Given the description of an element on the screen output the (x, y) to click on. 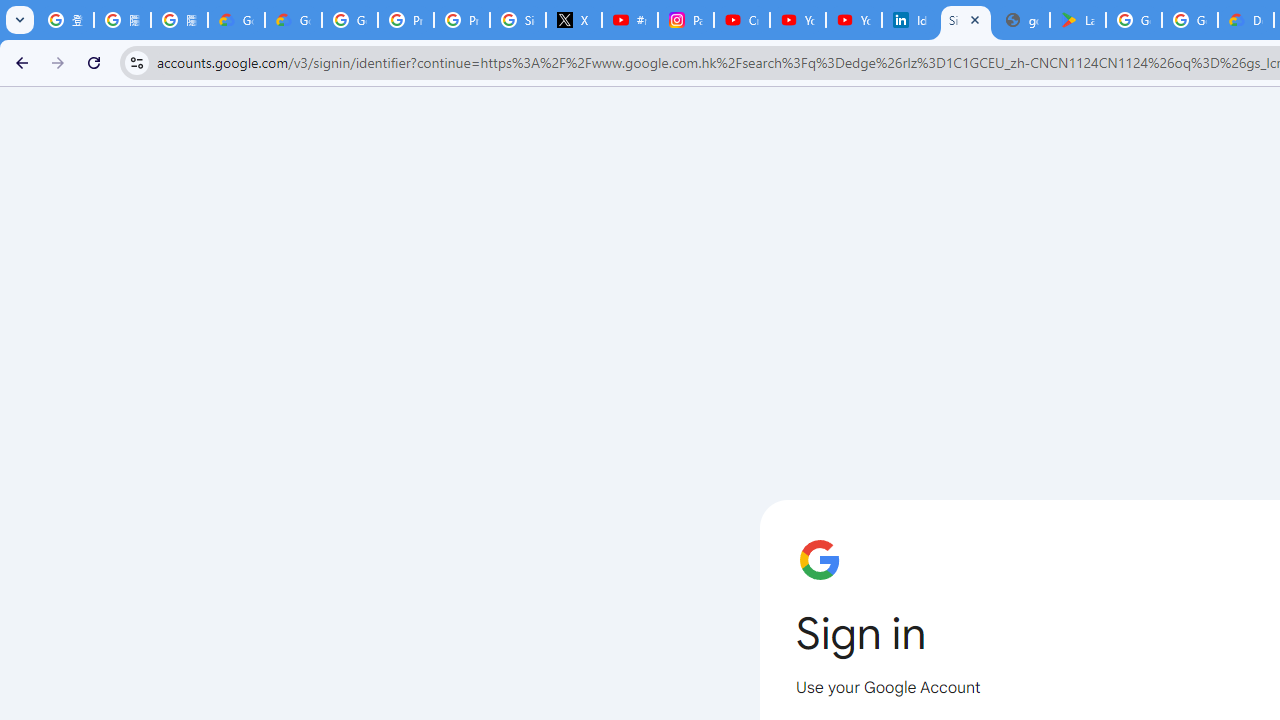
Google Workspace - Specific Terms (1190, 20)
Identity verification via Persona | LinkedIn Help (909, 20)
#nbabasketballhighlights - YouTube (629, 20)
Sign in - Google Accounts (518, 20)
Google Cloud Privacy Notice (235, 20)
YouTube Culture & Trends - YouTube Top 10, 2021 (853, 20)
Privacy Help Center - Policies Help (461, 20)
